Given the description of an element on the screen output the (x, y) to click on. 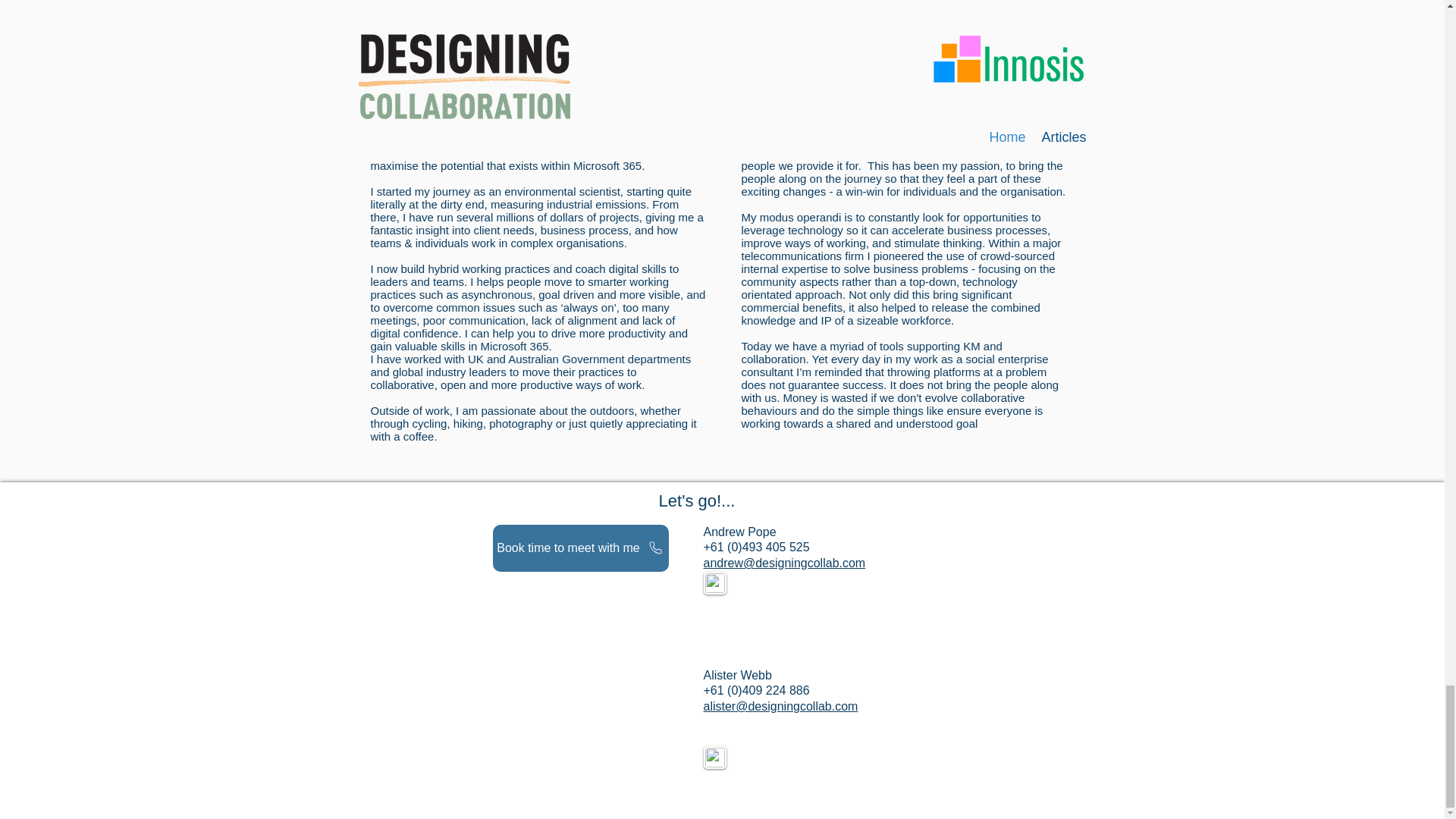
Twitter Follow (765, 584)
Innosis web site -2.png (792, 32)
Twitter Follow (761, 761)
Book time to meet with me (580, 547)
